Given the description of an element on the screen output the (x, y) to click on. 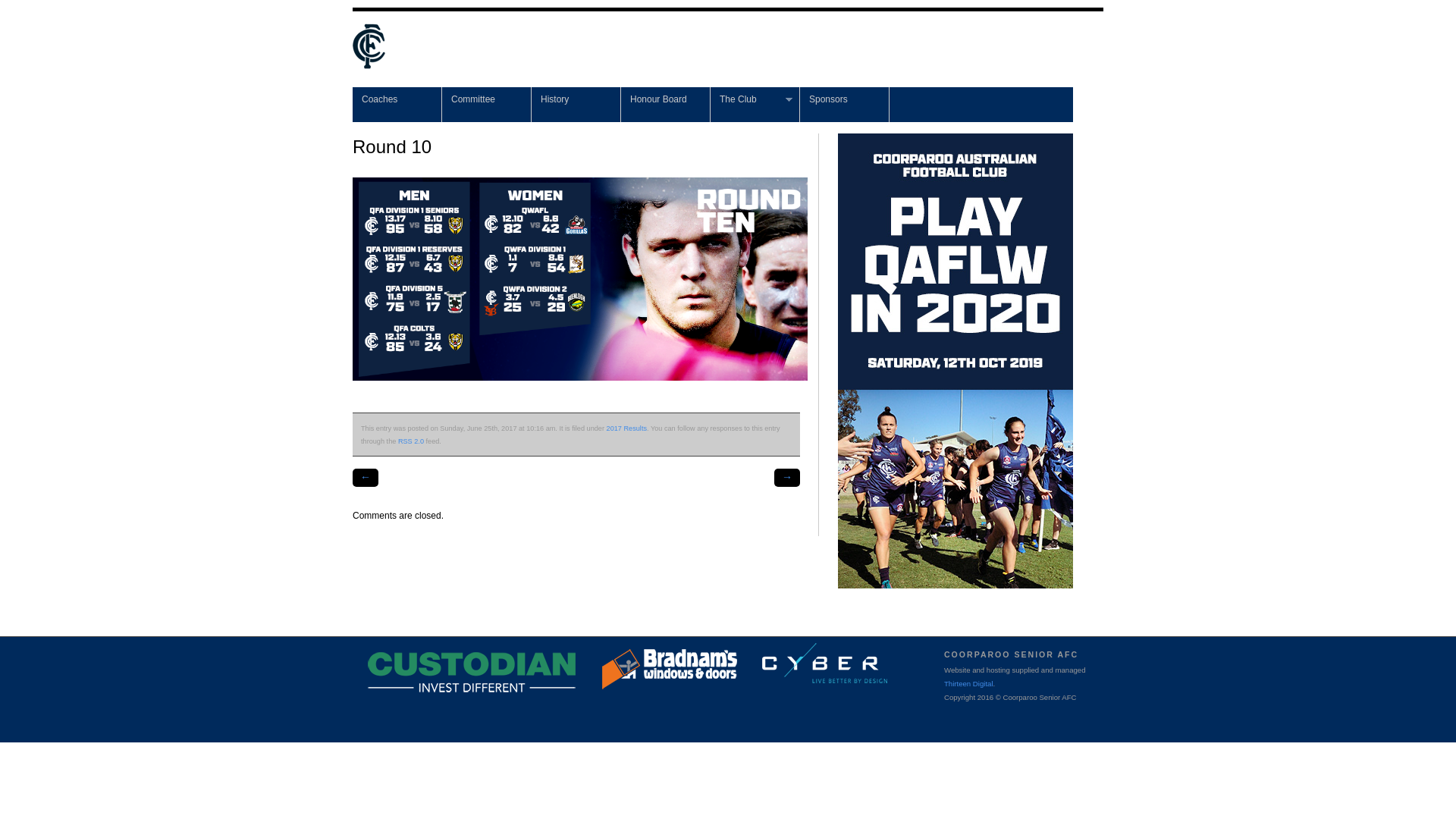
Thirteen Digital Element type: text (968, 683)
Committee Element type: text (486, 104)
Coaches Element type: text (396, 104)
Cyber Drafting Element type: text (840, 667)
RSS 2.0 Element type: text (410, 441)
Bradnams Windows & Doors Element type: text (686, 673)
Sponsors Element type: text (844, 104)
History Element type: text (575, 104)
Honour Board Element type: text (665, 104)
Custodian Element type: hover (497, 676)
2017 Results Element type: text (626, 428)
